Given the description of an element on the screen output the (x, y) to click on. 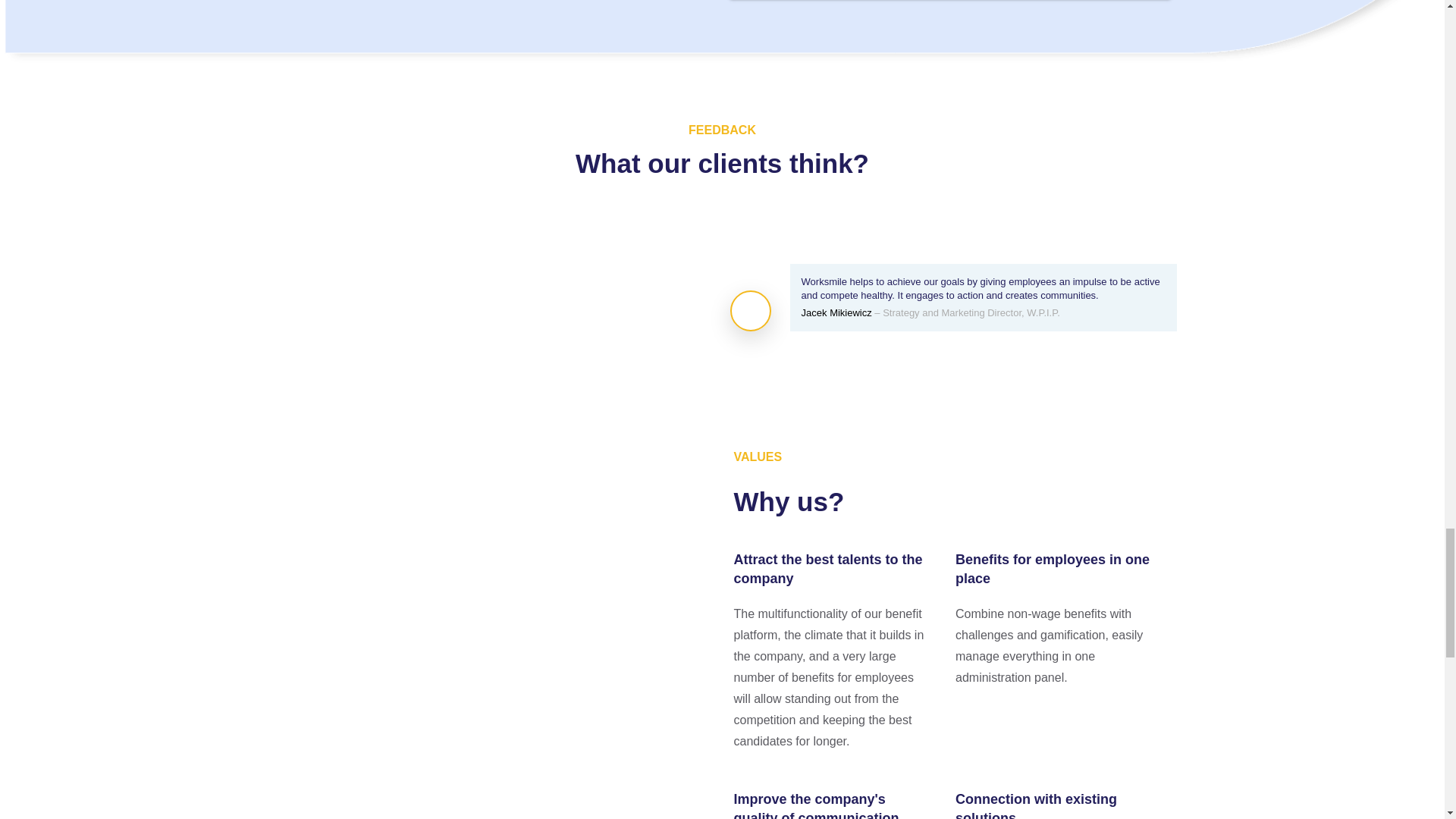
Portrait of white man isolated (750, 310)
